Given the description of an element on the screen output the (x, y) to click on. 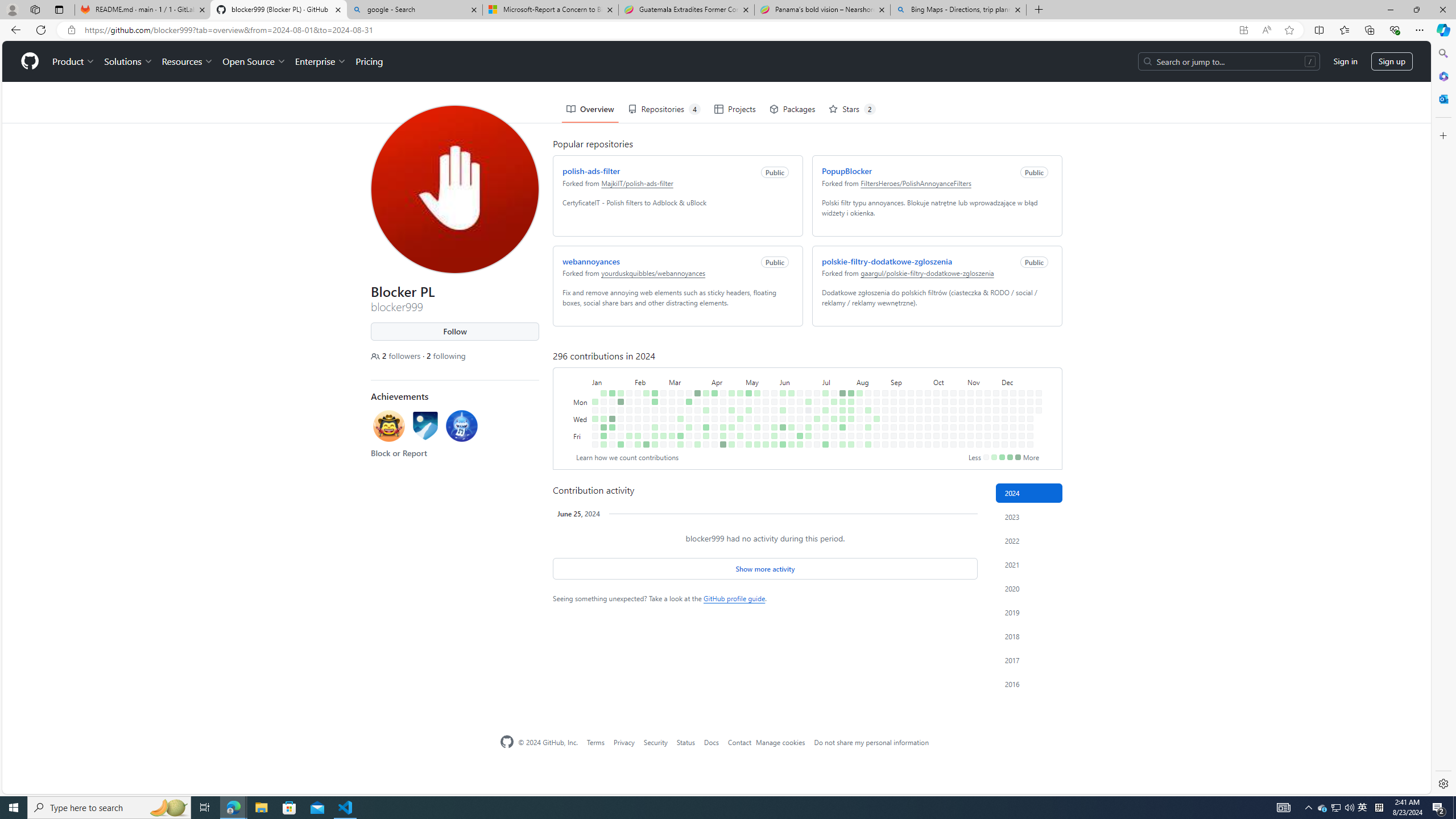
No contributions on March 22nd. (687, 394)
No contributions on August 10th. (859, 444)
Open Source (251, 20)
No contributions on January 4th. (592, 386)
No contributions on August 30th. (882, 394)
No contributions on December 9th. (1010, 360)
2 contributions on March 21st. (687, 386)
Manage cookies (780, 741)
No contributions on June 26th. (806, 377)
4 contributions on January 14th. (609, 351)
7 contributions on July 28th. (848, 351)
No contributions on June 25th. (806, 369)
3 contributions on August 4th. (857, 351)
